Given the description of an element on the screen output the (x, y) to click on. 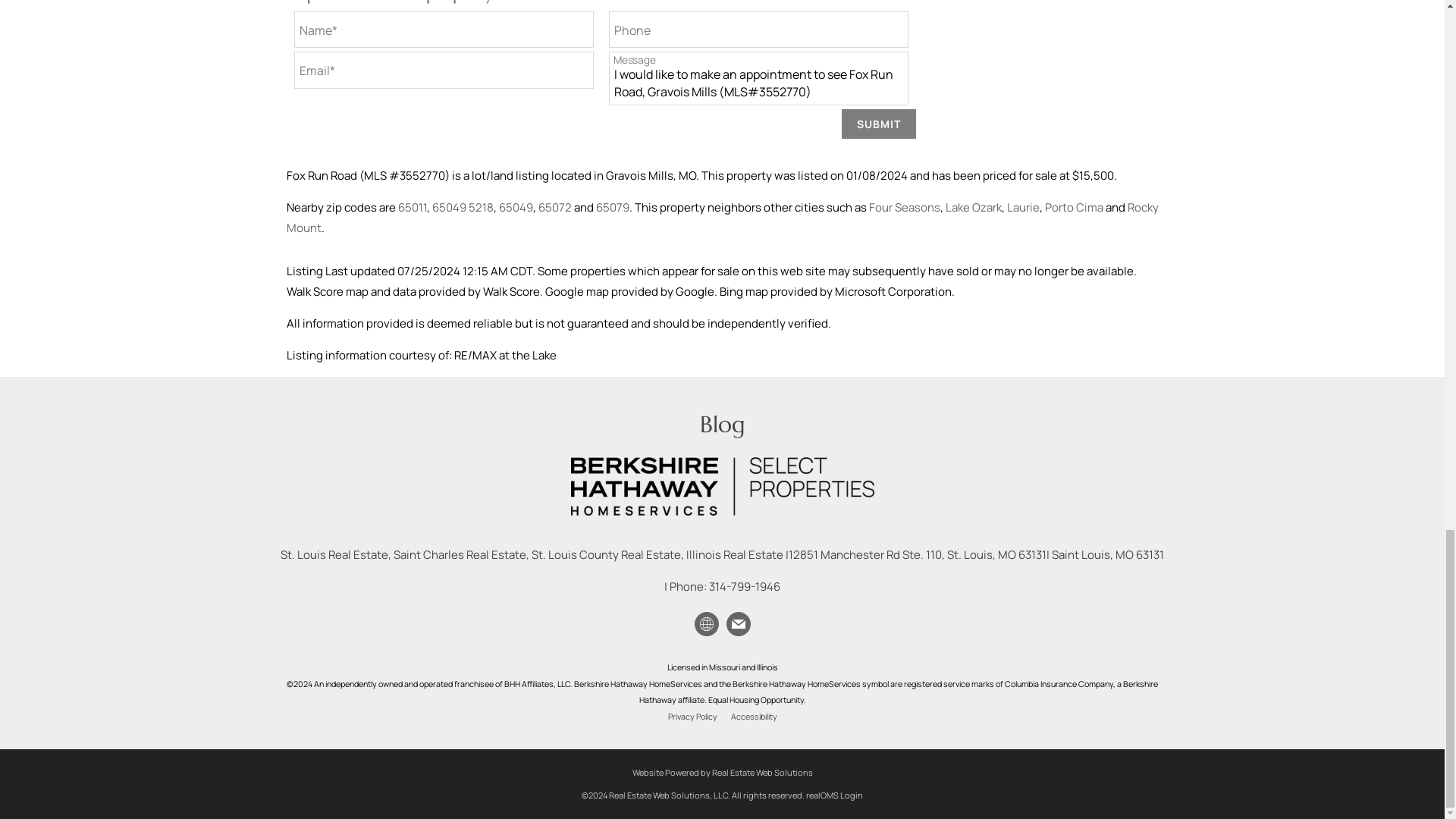
Visit us on Website (705, 623)
Blog (721, 424)
Visit us on Email (737, 623)
